Given the description of an element on the screen output the (x, y) to click on. 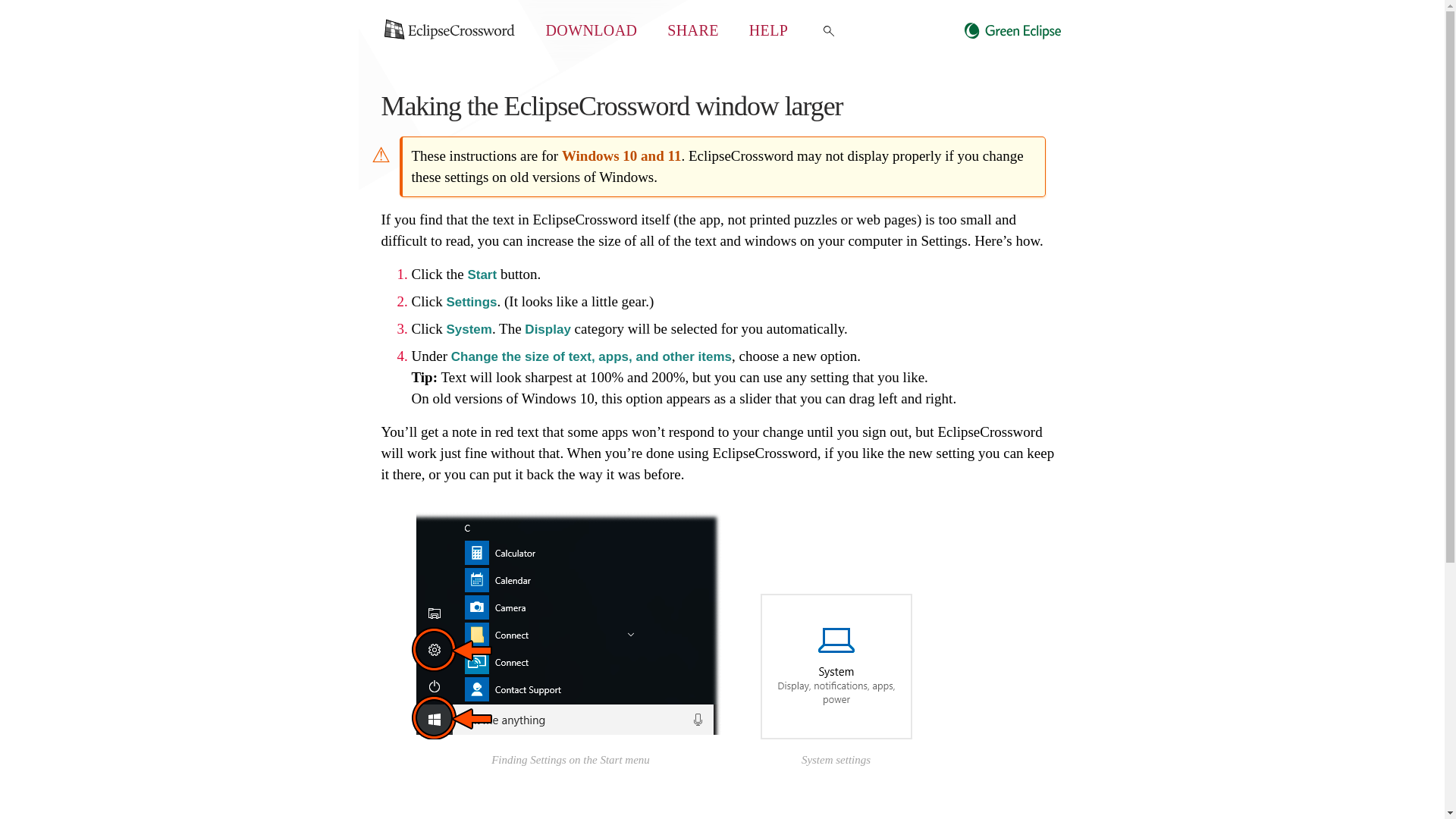
SHARE (692, 30)
HELP (768, 30)
DOWNLOAD (591, 30)
